Given the description of an element on the screen output the (x, y) to click on. 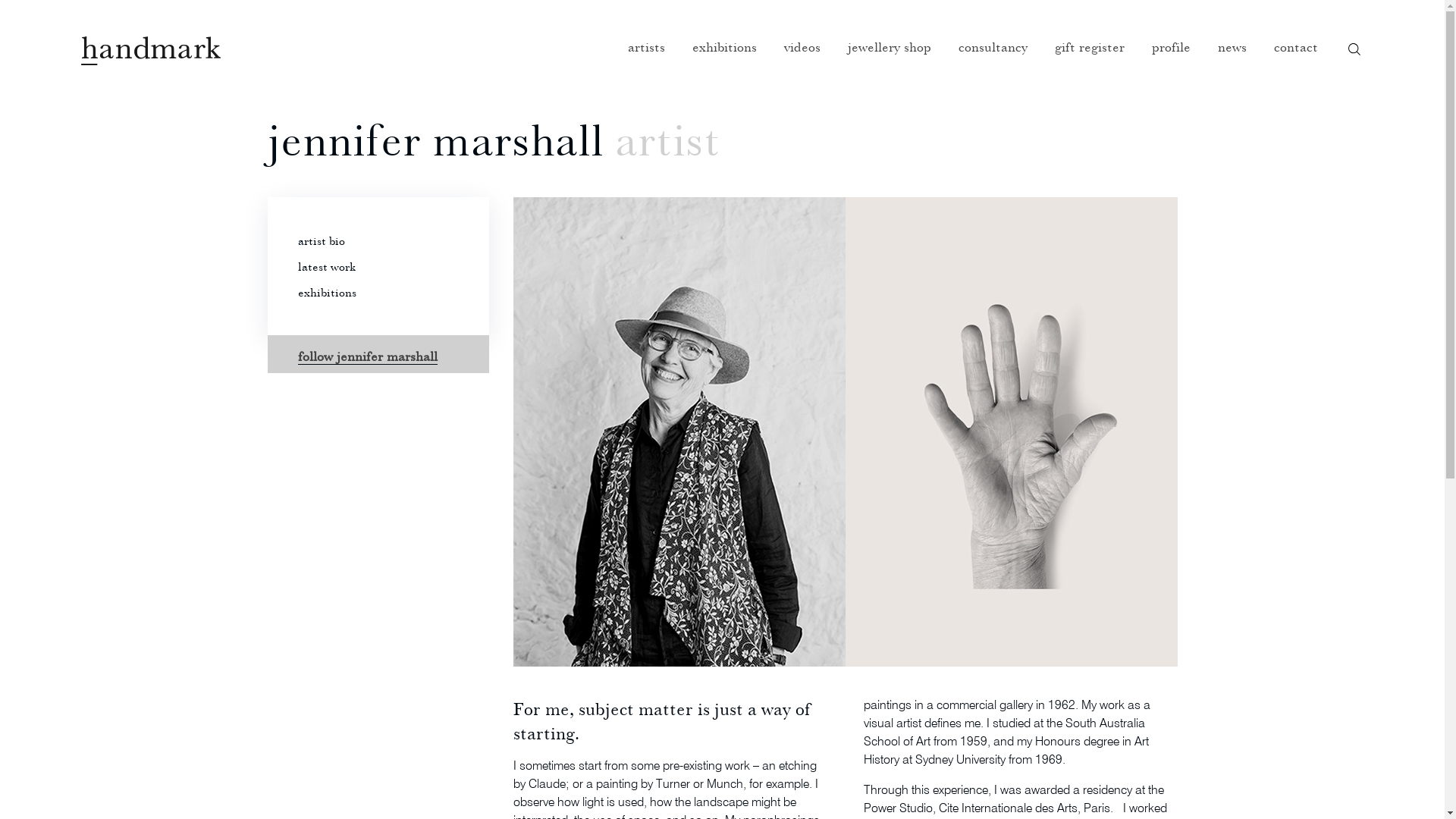
latest work Element type: text (325, 265)
news Element type: text (1231, 58)
jewellery shop Element type: text (889, 58)
follow jennifer marshall Element type: text (366, 356)
profile Element type: text (1170, 58)
exhibitions Element type: text (326, 291)
exhibitions Element type: text (724, 58)
artist bio Element type: text (320, 239)
videos Element type: text (802, 58)
gift register Element type: text (1089, 58)
contact Element type: text (1295, 58)
Handmark homepage Element type: text (150, 50)
artists Element type: text (646, 58)
consultancy Element type: text (992, 58)
